Given the description of an element on the screen output the (x, y) to click on. 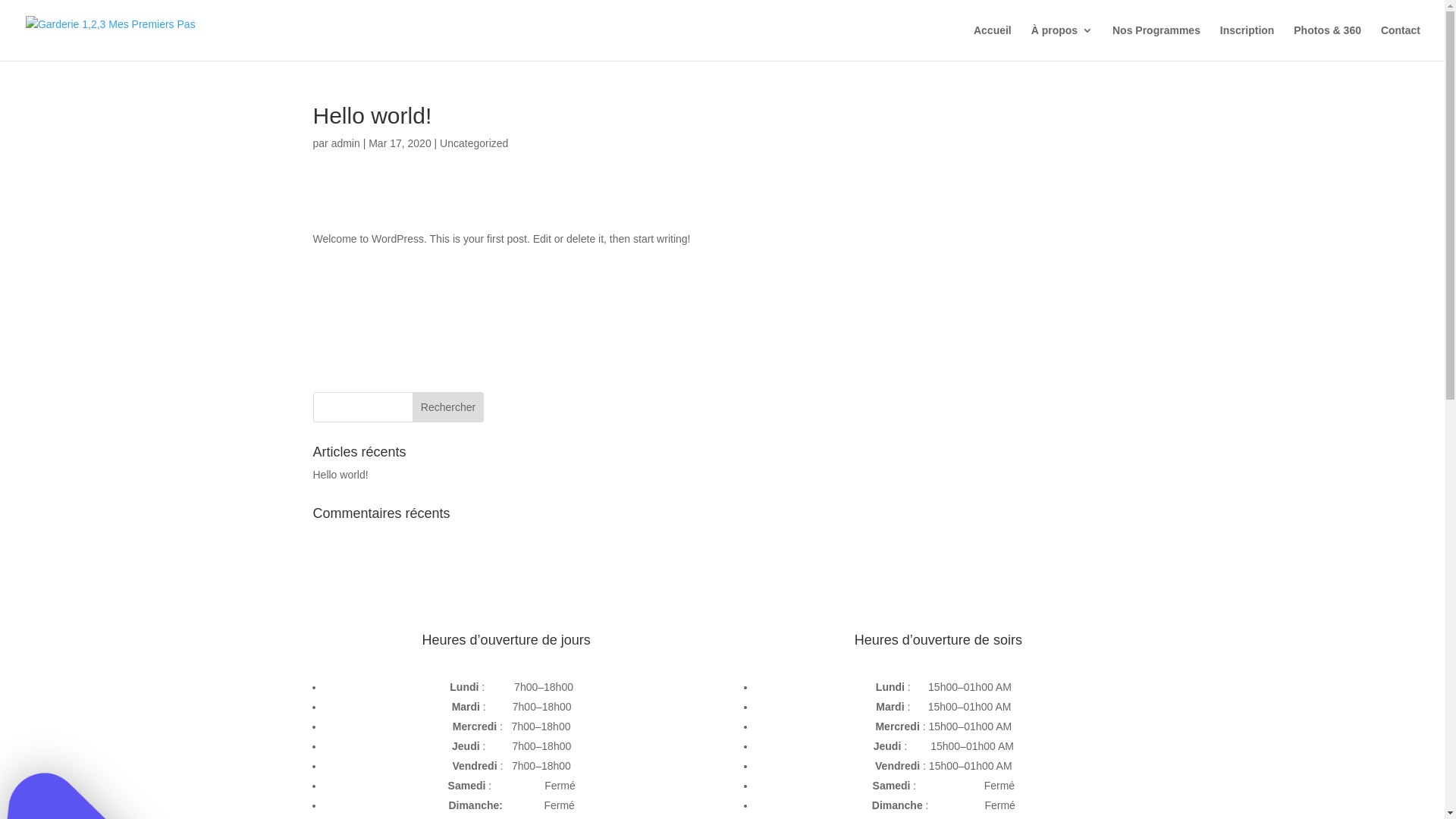
Uncategorized Element type: text (473, 143)
Nos Programmes Element type: text (1156, 42)
Rechercher Element type: text (447, 407)
Accueil Element type: text (992, 42)
Contact Element type: text (1400, 42)
admin Element type: text (345, 143)
Inscription Element type: text (1247, 42)
Photos & 360 Element type: text (1327, 42)
Hello world! Element type: text (339, 474)
